Given the description of an element on the screen output the (x, y) to click on. 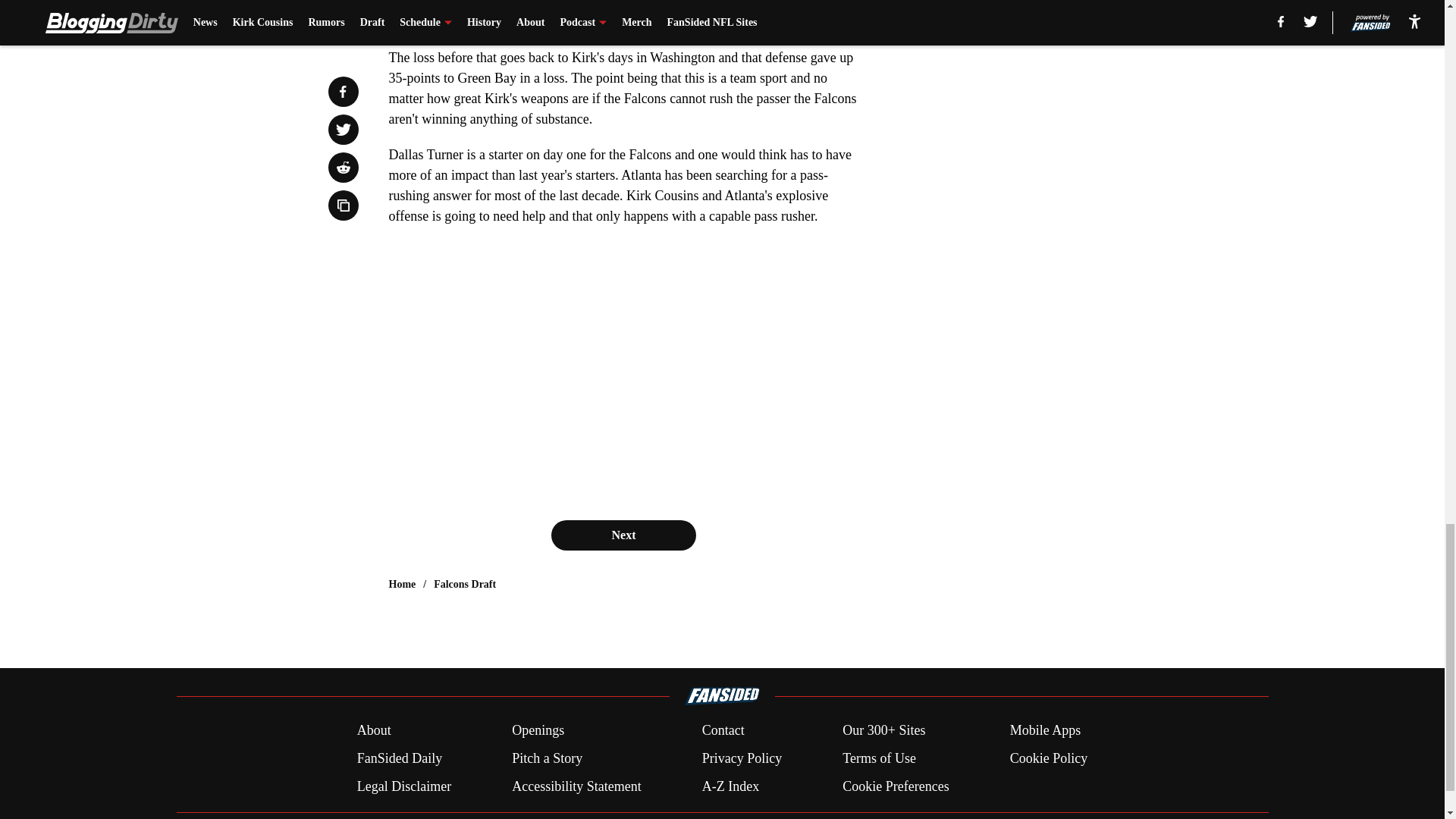
FanSided Daily (399, 758)
About (373, 730)
Contact (722, 730)
Falcons Draft (464, 584)
Next (622, 535)
Privacy Policy (742, 758)
Openings (538, 730)
Mobile Apps (1045, 730)
Home (401, 584)
Pitch a Story (547, 758)
